Given the description of an element on the screen output the (x, y) to click on. 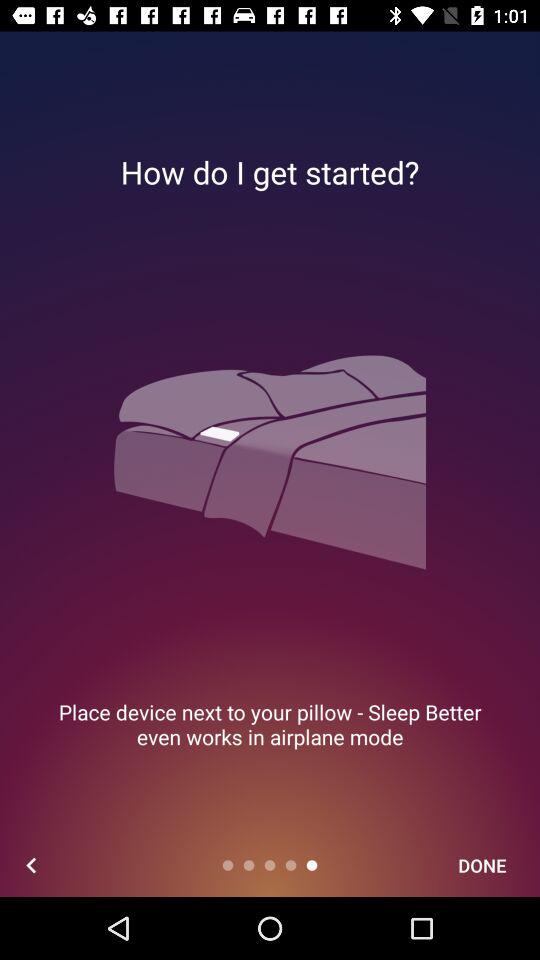
tap icon below the place device next item (31, 864)
